Given the description of an element on the screen output the (x, y) to click on. 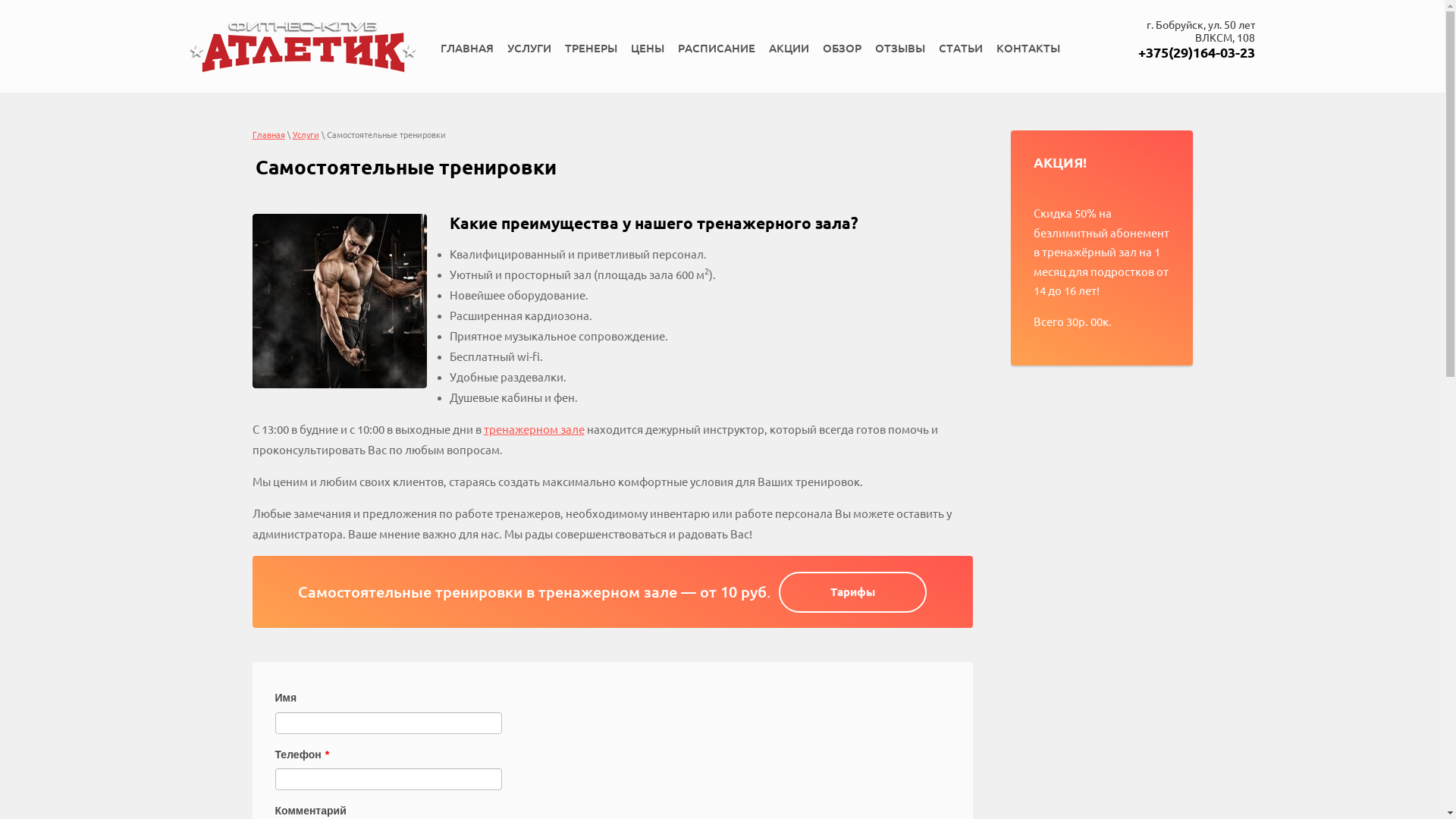
+375(29)164-03-23 Element type: text (1196, 51)
